Given the description of an element on the screen output the (x, y) to click on. 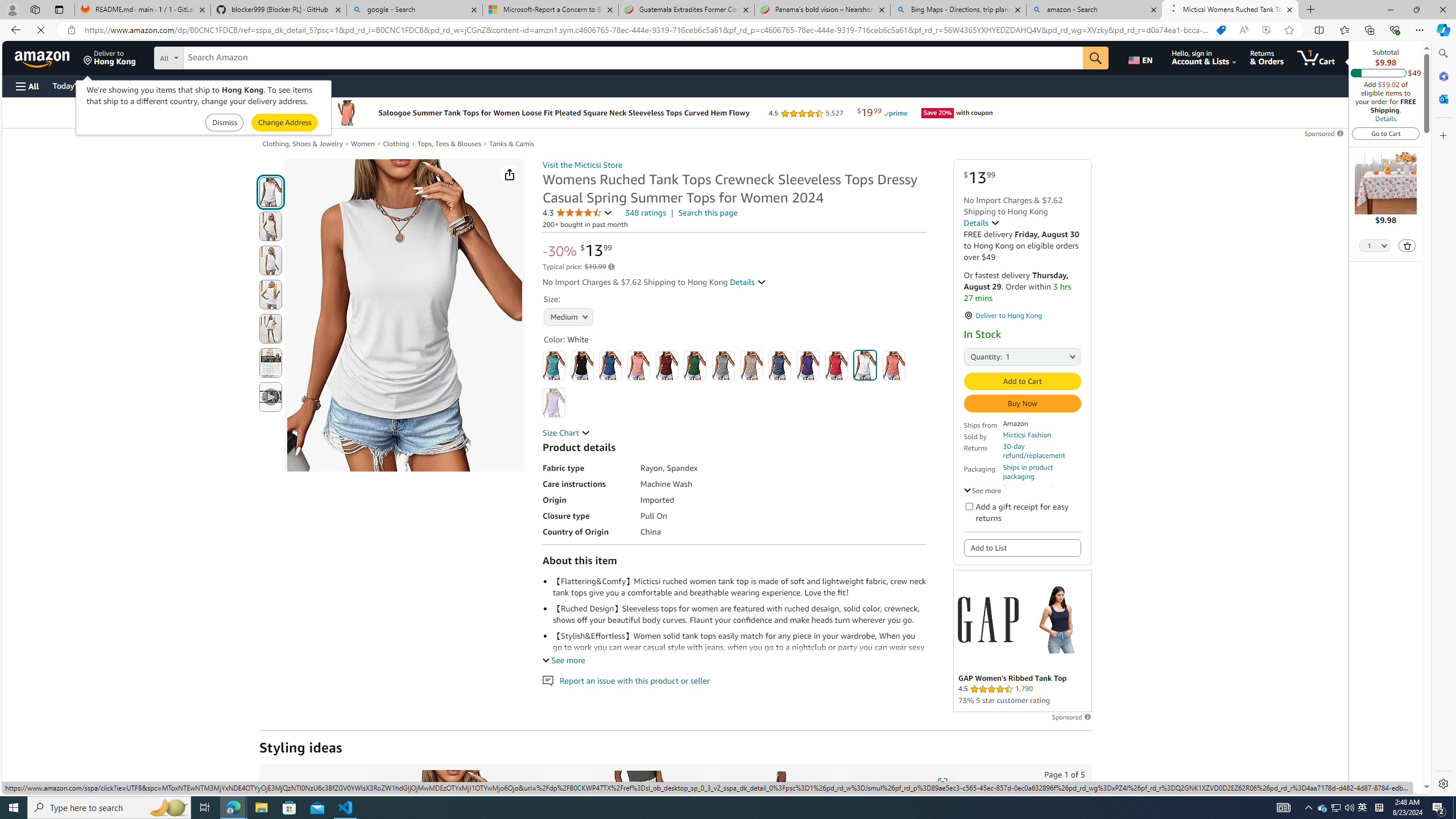
GAP Women's Ribbed Tank Top (1057, 619)
Delete (1407, 245)
Skip to main content (48, 56)
Details  (981, 222)
Dark Red (666, 365)
Choose a language for shopping. (1142, 57)
Details (1385, 118)
Buy Now (1021, 403)
amazon - Search (1094, 9)
Secure transaction (1032, 488)
Clothing, Shoes & Jewelry (302, 143)
Search Amazon (633, 57)
